Given the description of an element on the screen output the (x, y) to click on. 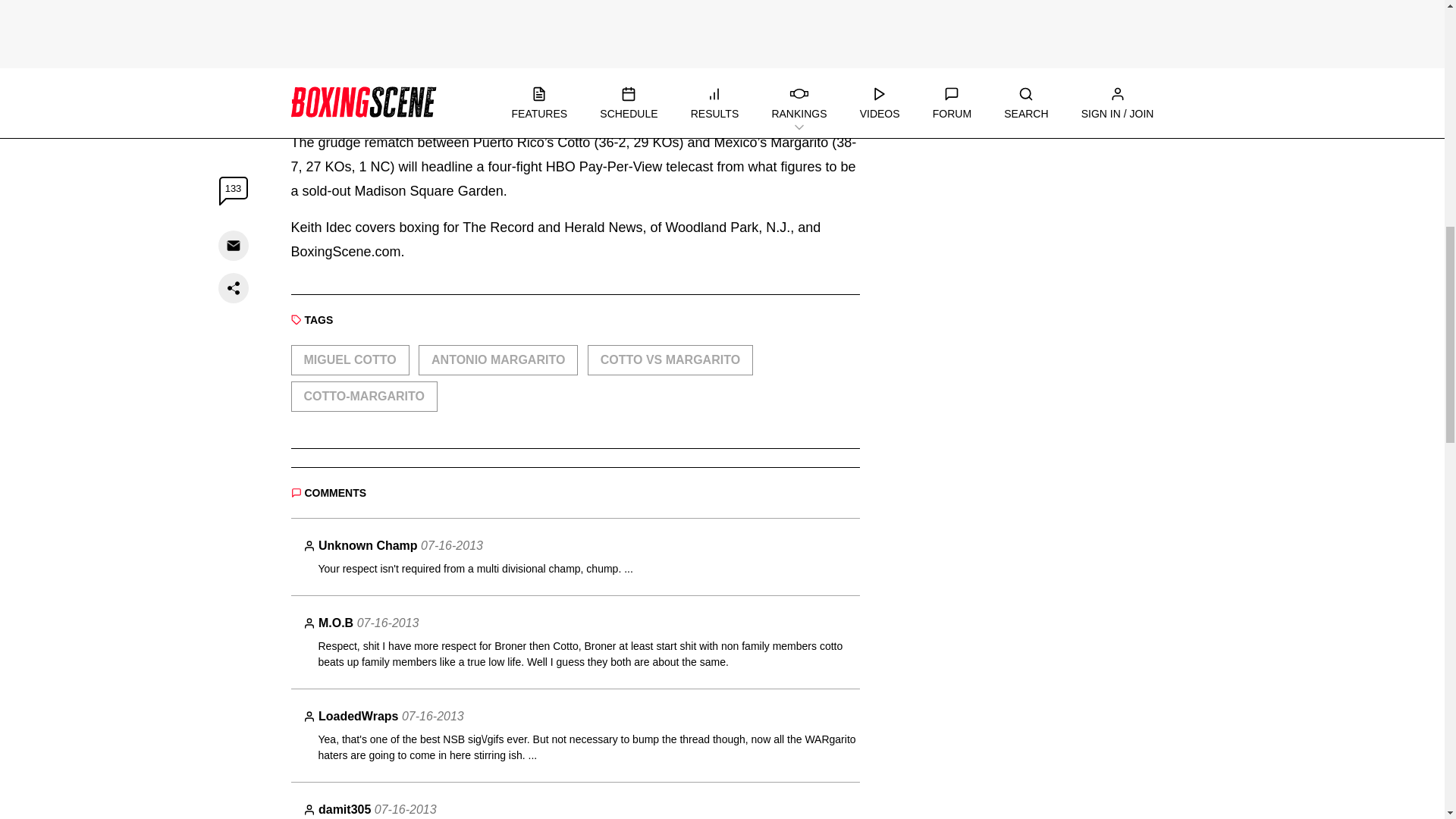
COTTO VS MARGARITO (670, 359)
ANTONIO MARGARITO (498, 359)
MIGUEL COTTO (350, 359)
LoadedWraps (358, 716)
COTTO-MARGARITO (364, 396)
M.O.B (335, 622)
damit305 (344, 809)
Unknown Champ (367, 545)
